Given the description of an element on the screen output the (x, y) to click on. 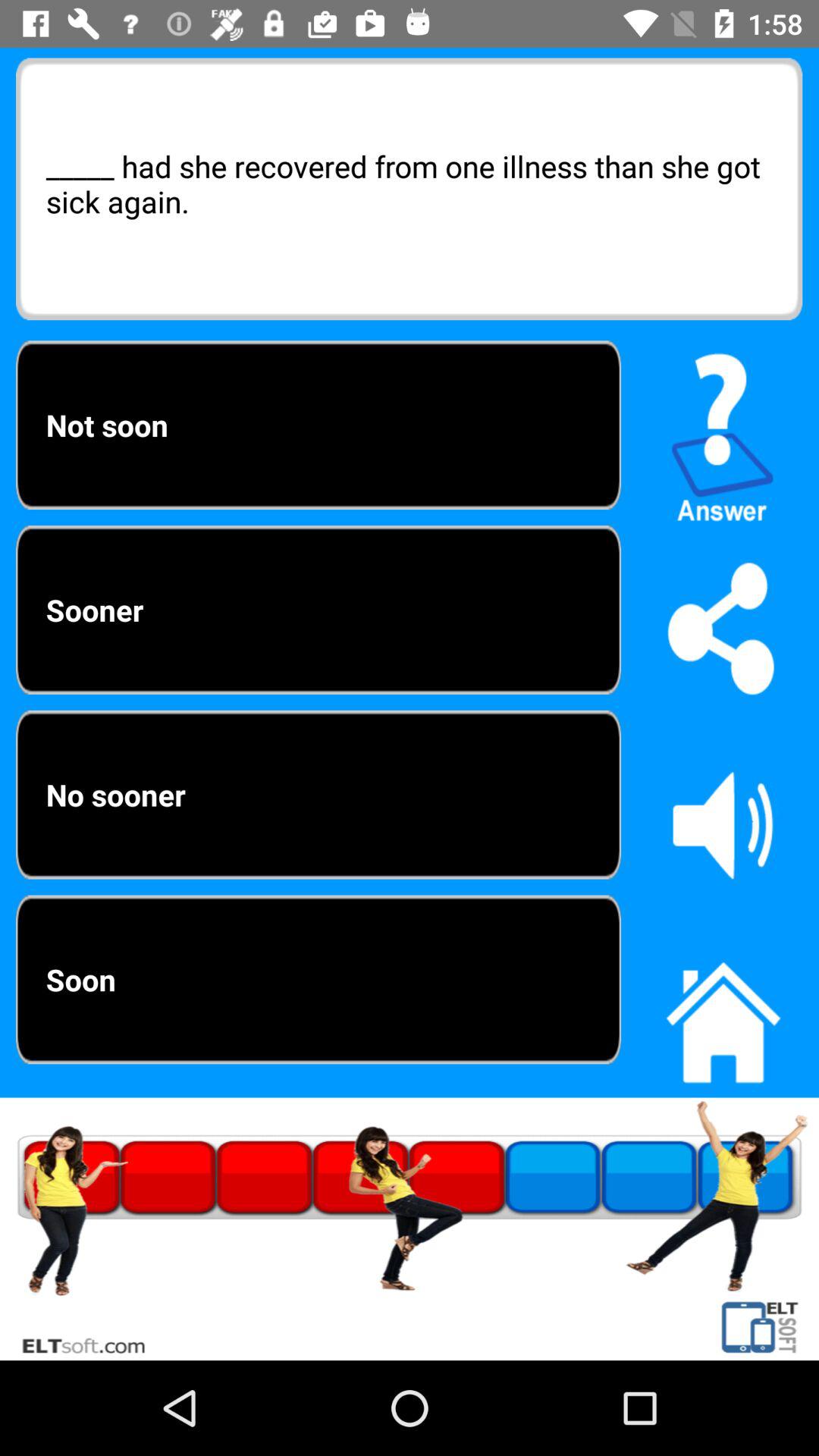
go home (723, 1013)
